Given the description of an element on the screen output the (x, y) to click on. 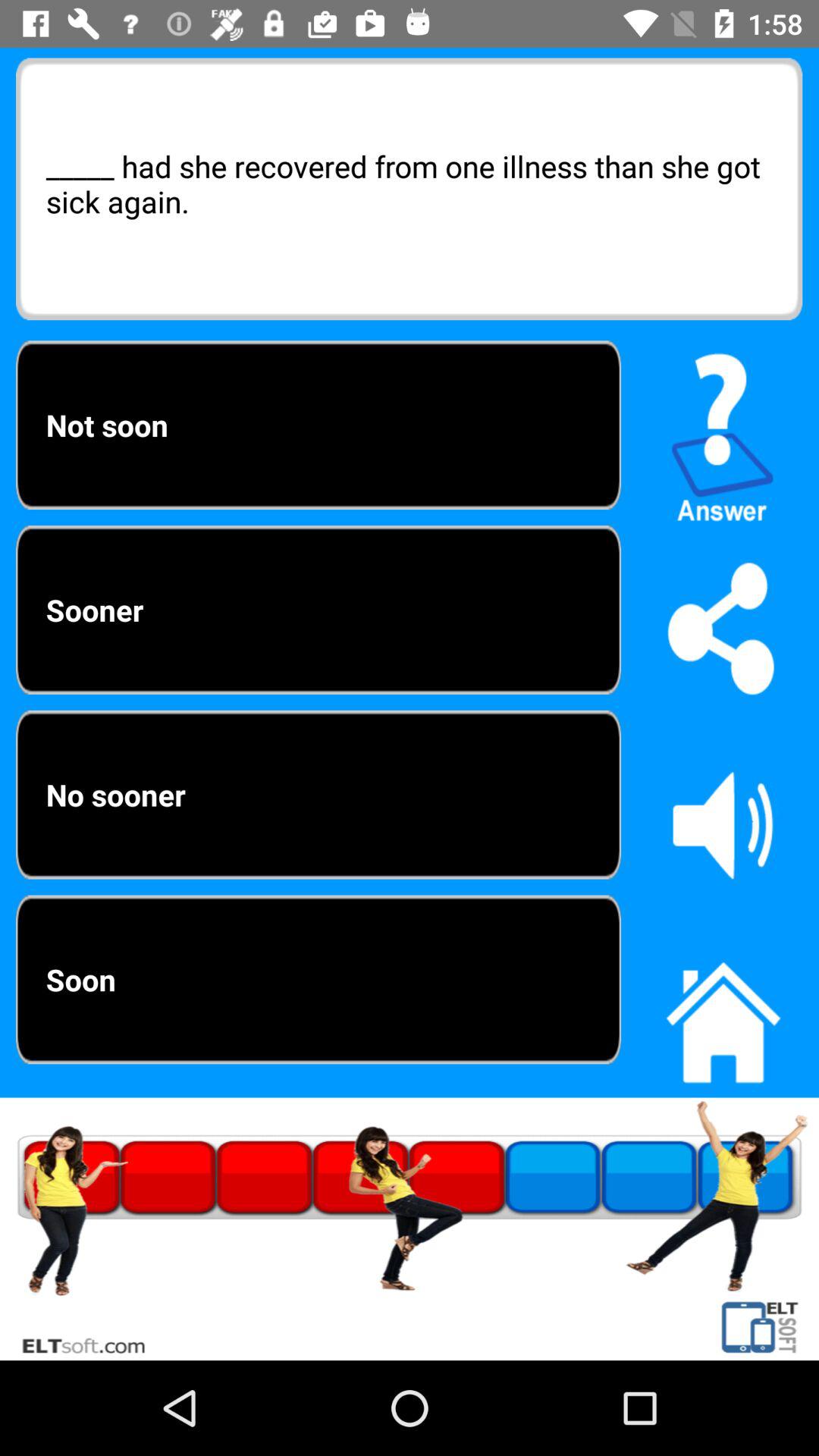
go home (723, 1013)
